Given the description of an element on the screen output the (x, y) to click on. 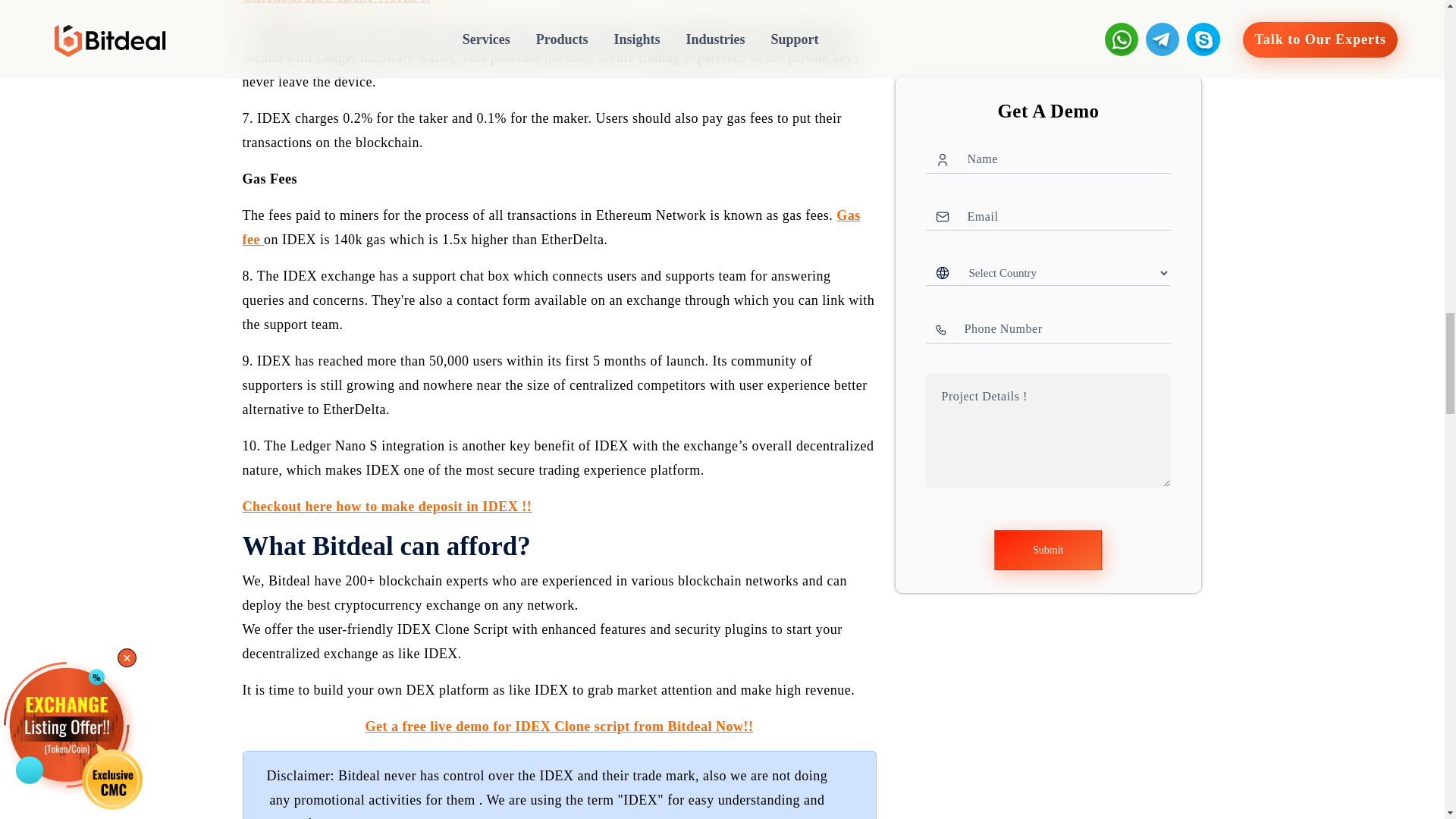
Gas fee (551, 227)
Checkout here how to make deposit in IDEX !! (387, 506)
Checkout How IDEX Works !! (336, 2)
